Given the description of an element on the screen output the (x, y) to click on. 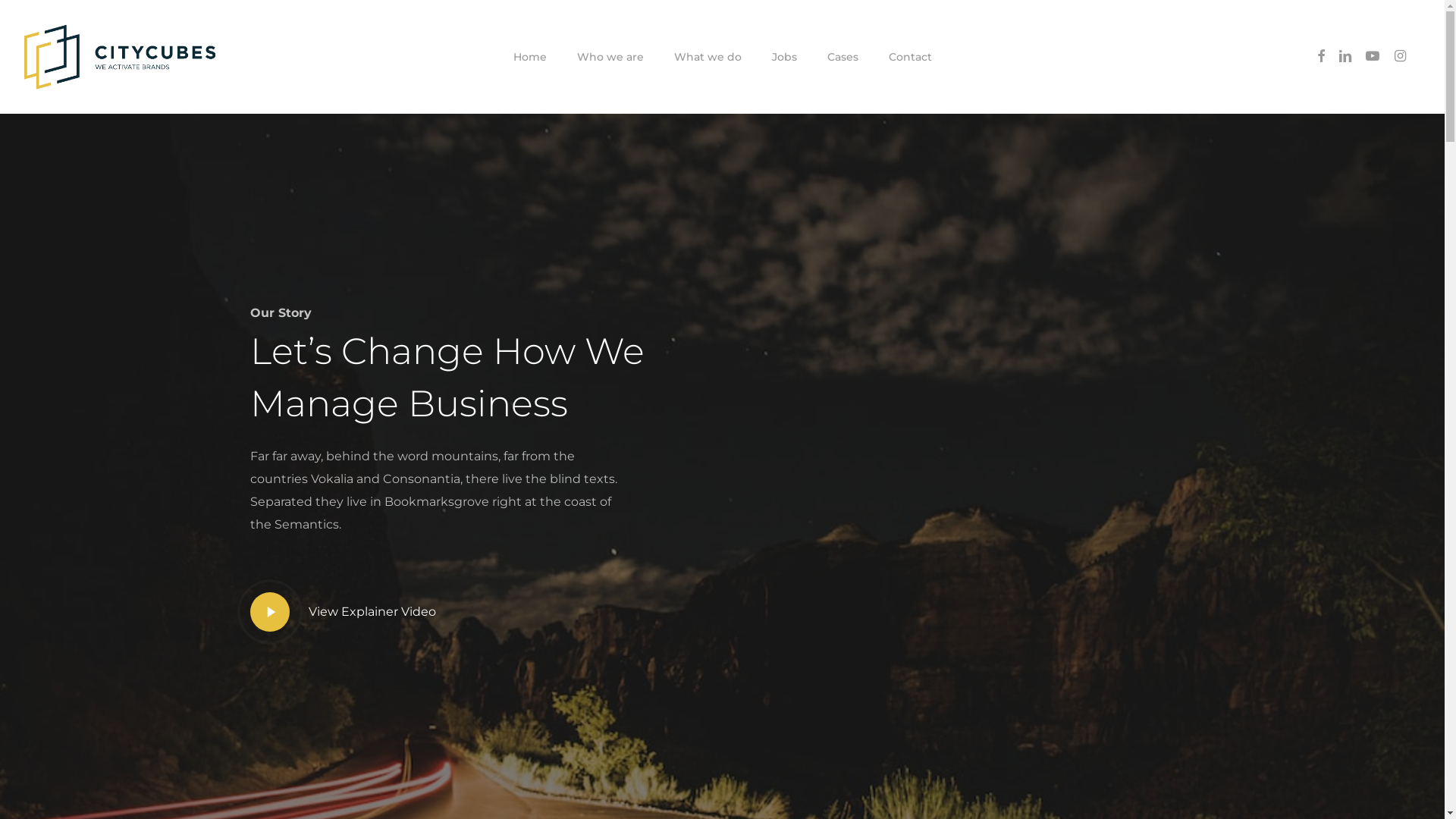
ESF Element type: text (733, 734)
Contact Element type: text (909, 56)
Play Video
View Explainer Video Element type: text (343, 611)
Privacy statement Element type: text (908, 734)
Home Element type: text (529, 56)
youtube Element type: text (1372, 56)
Who we are Element type: text (609, 56)
Are Agency Element type: text (688, 734)
instagram Element type: text (778, 773)
Algemene voorwaarden Element type: text (803, 734)
Cases Element type: text (841, 56)
facebook Element type: text (664, 773)
linkedin Element type: text (702, 773)
Jobs Element type: text (784, 56)
linkedin Element type: text (1344, 56)
What we do Element type: text (706, 56)
youtube Element type: text (740, 773)
facebook Element type: text (1320, 56)
instagram Element type: text (1399, 56)
